Given the description of an element on the screen output the (x, y) to click on. 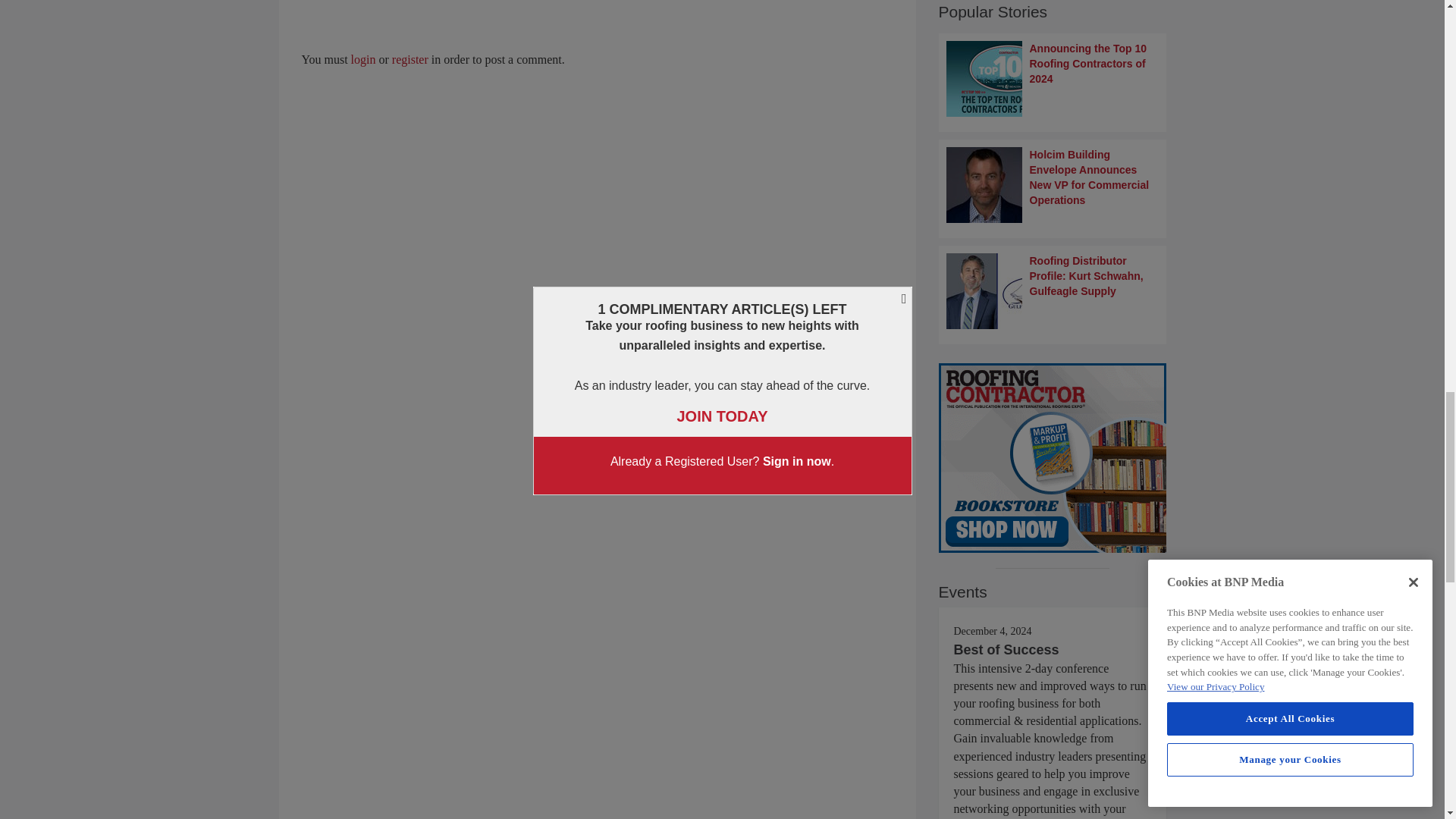
Announcing the Top 10 Roofing Contractors of 2024 (1052, 78)
Roofing Distributor Profile: Kurt Schwahn, Gulfeagle Supply (1052, 291)
Best of Success (1006, 649)
